Given the description of an element on the screen output the (x, y) to click on. 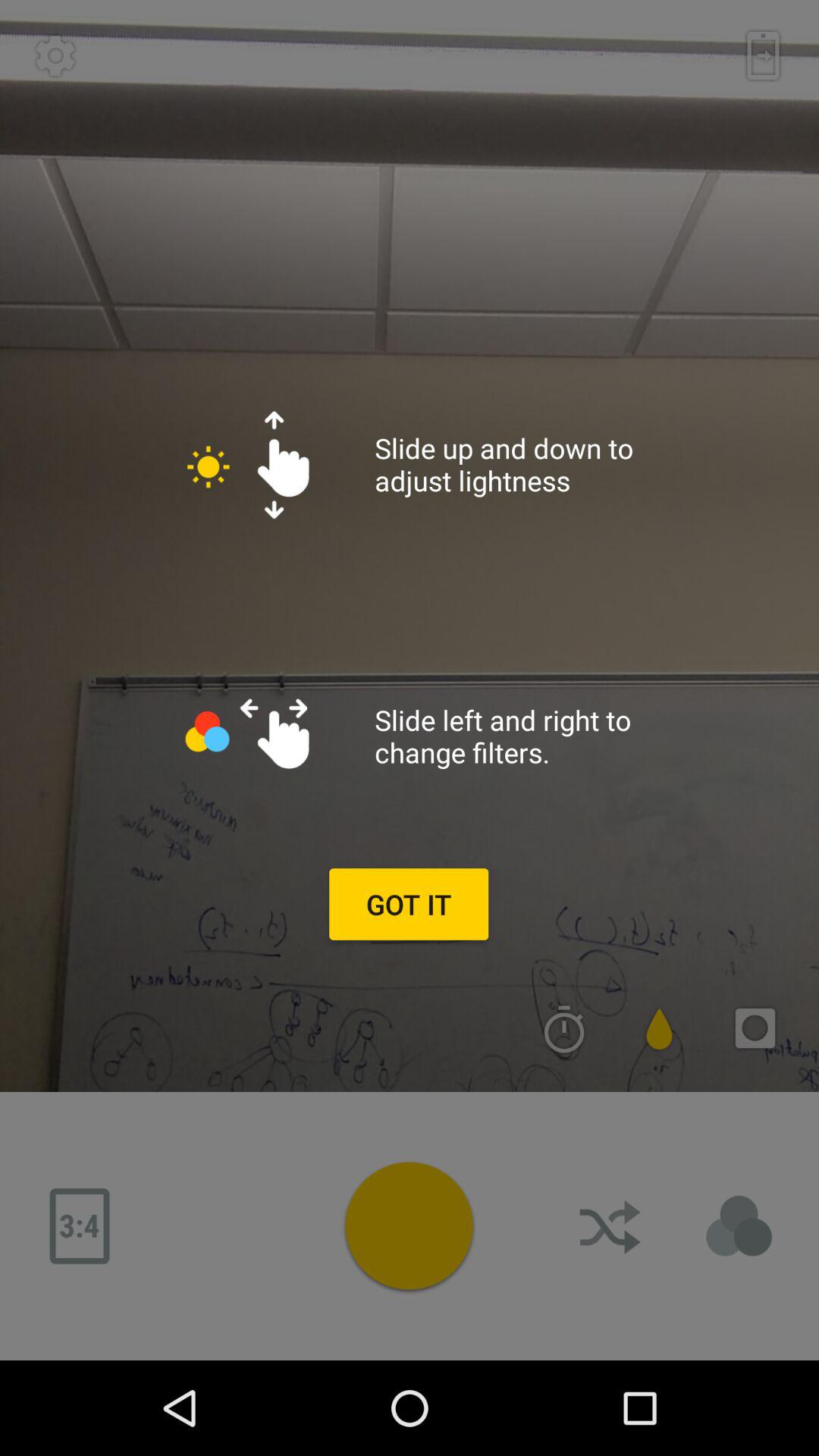
open settings menu (55, 55)
